Given the description of an element on the screen output the (x, y) to click on. 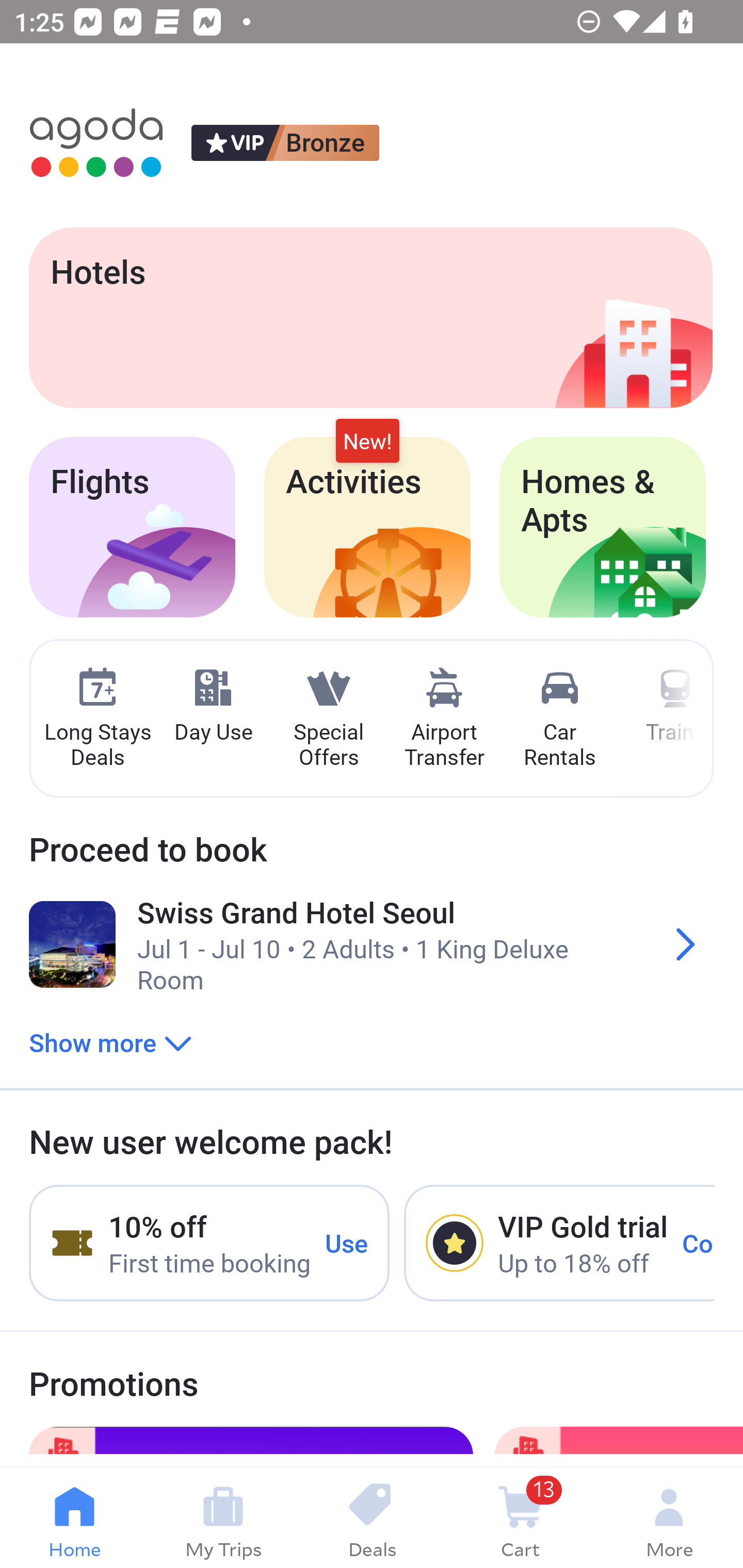
Hotels (370, 317)
New! (367, 441)
Flights (131, 527)
Activities (367, 527)
Homes & Apts (602, 527)
Day Use (213, 706)
Long Stays Deals (97, 718)
Special Offers (328, 718)
Airport Transfer (444, 718)
Car Rentals (559, 718)
Show more (110, 1041)
Use (346, 1242)
Home (74, 1518)
My Trips (222, 1518)
Deals (371, 1518)
13 Cart (519, 1518)
More (668, 1518)
